Given the description of an element on the screen output the (x, y) to click on. 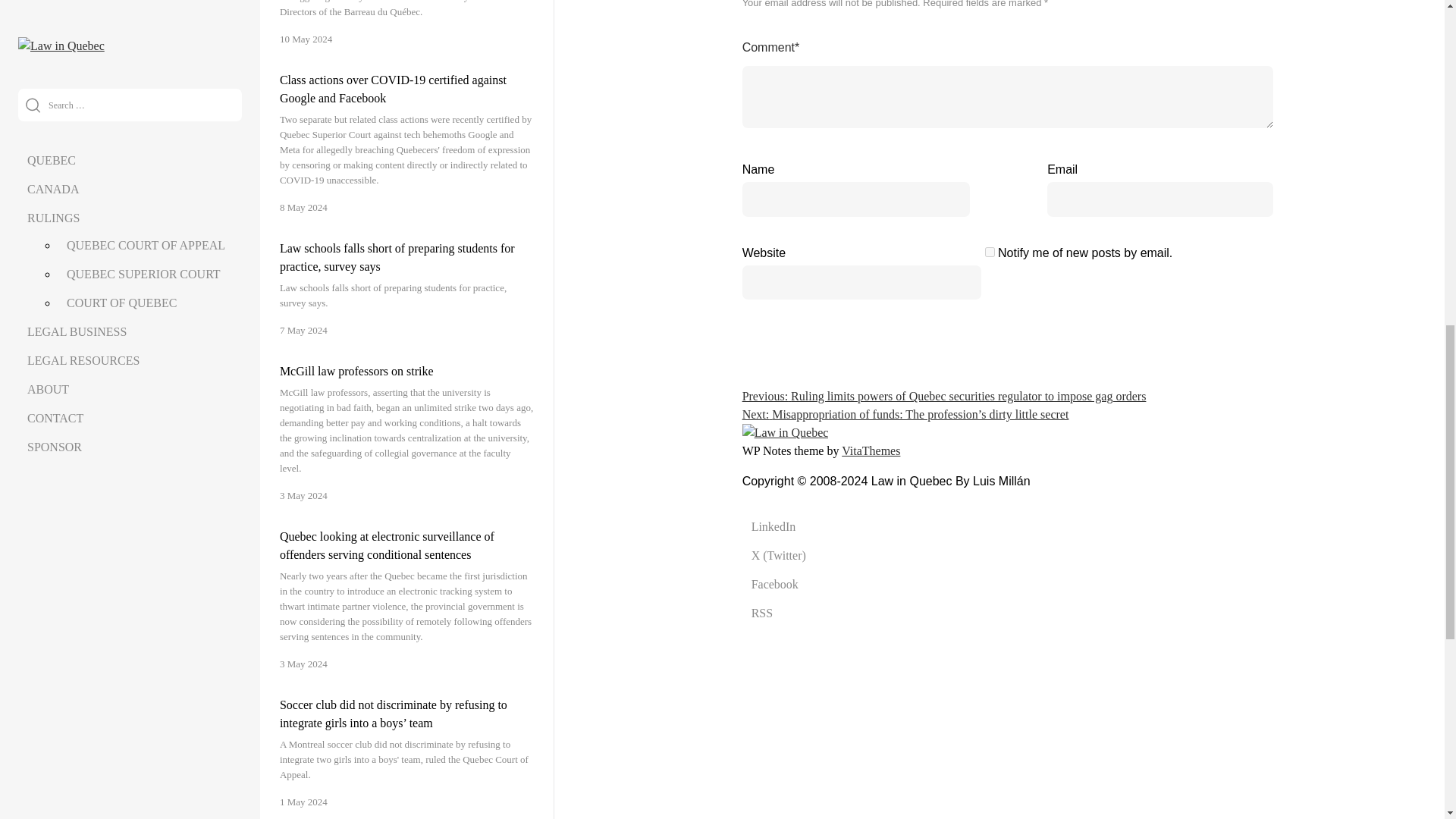
Post Comment (1211, 259)
subscribe (989, 252)
